Given the description of an element on the screen output the (x, y) to click on. 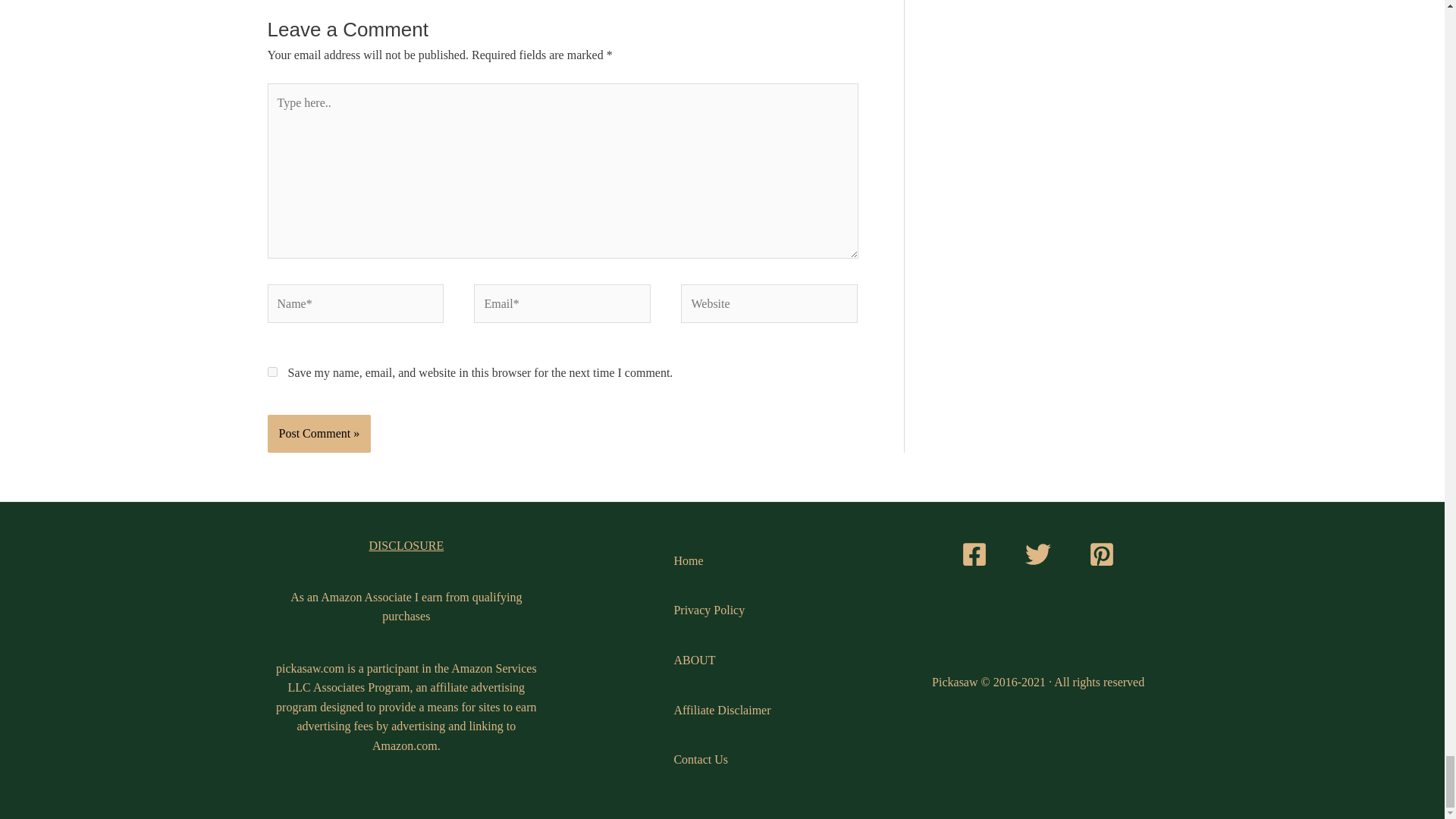
yes (271, 371)
